Given the description of an element on the screen output the (x, y) to click on. 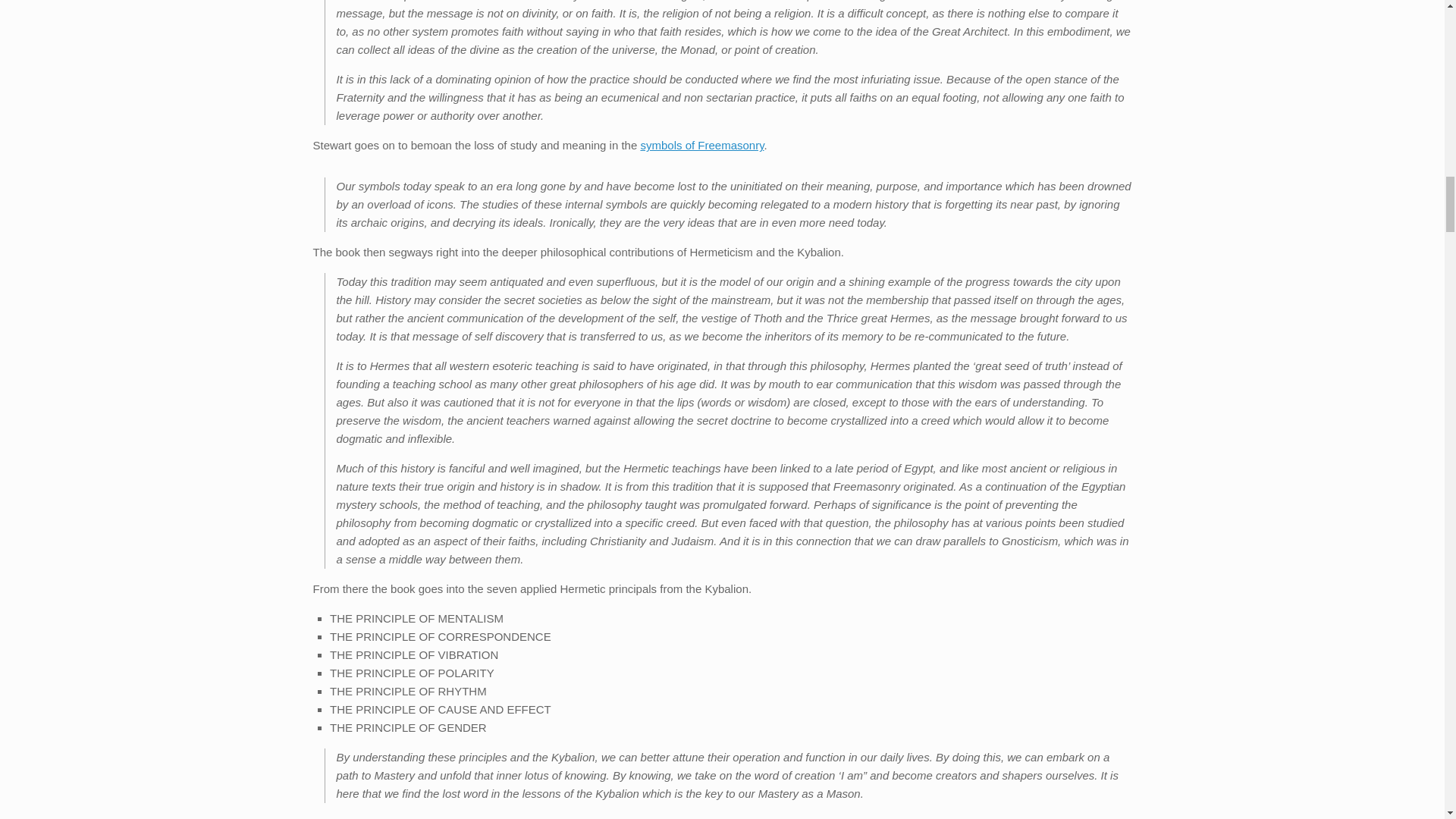
symbols of Freemasonry (701, 144)
